Given the description of an element on the screen output the (x, y) to click on. 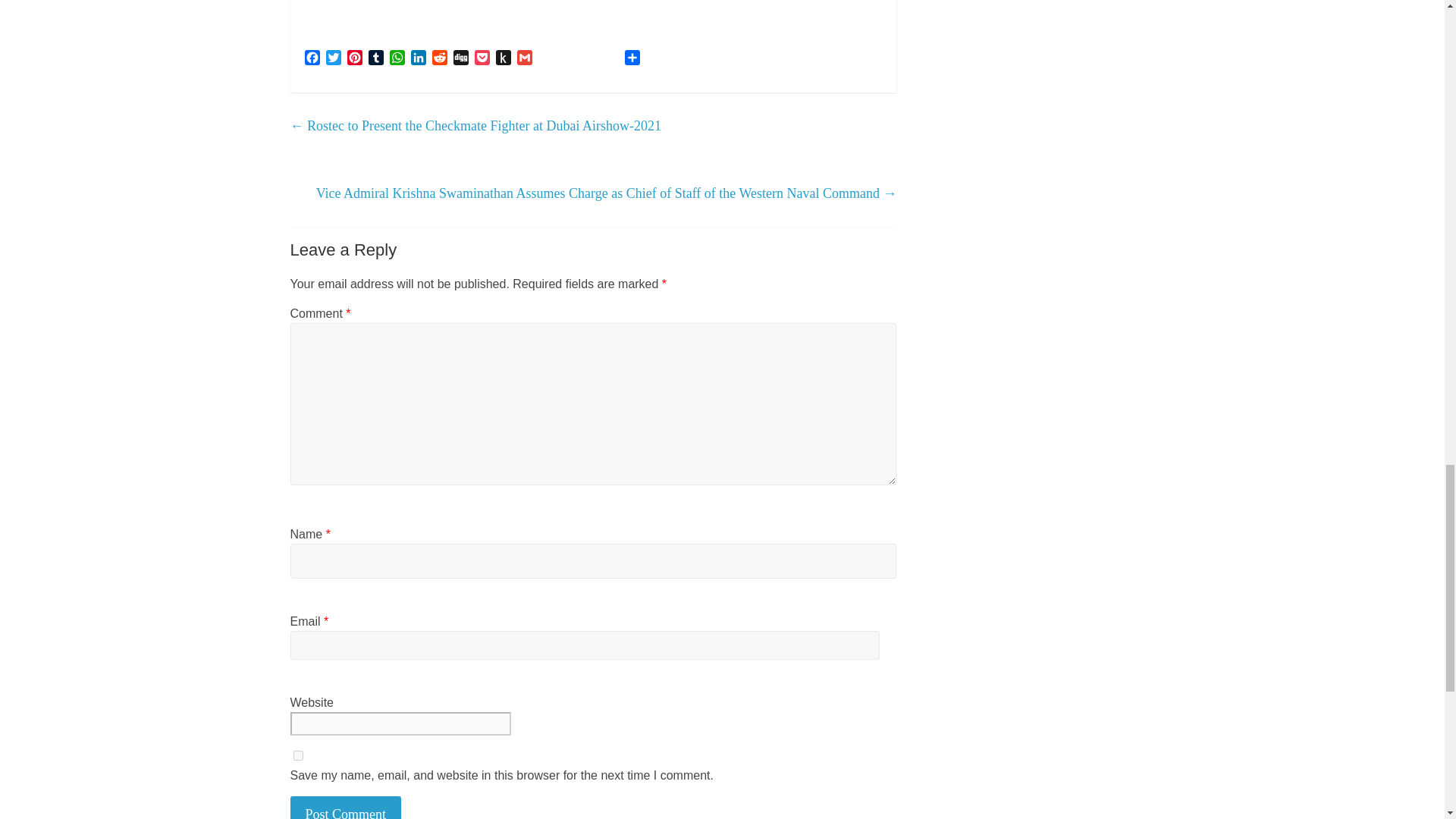
WhatsApp (397, 58)
Pinterest (354, 58)
Twitter (333, 58)
Post Comment (345, 807)
yes (297, 755)
Tumblr (376, 58)
Facebook (312, 58)
